Given the description of an element on the screen output the (x, y) to click on. 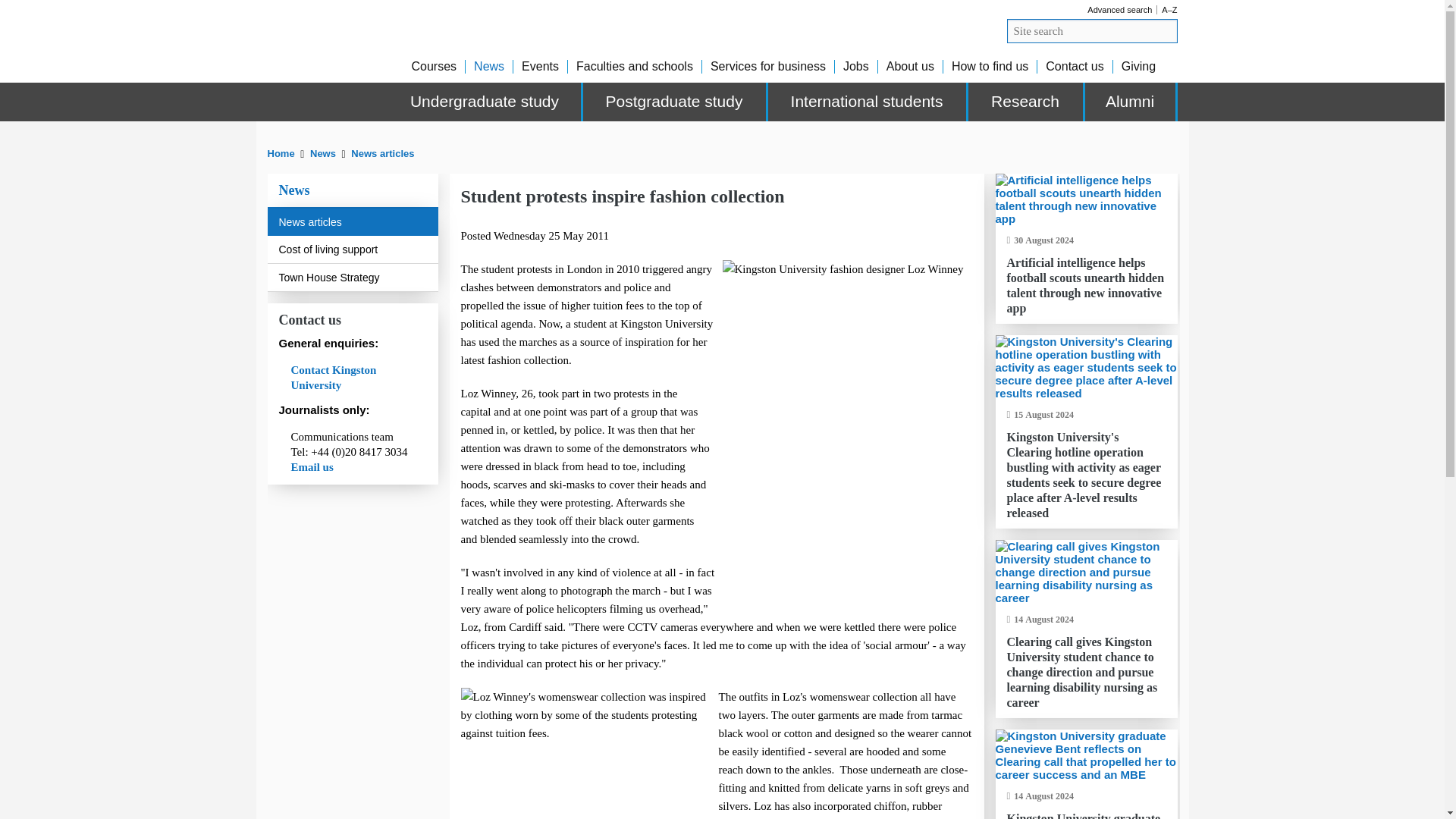
International students (867, 101)
Twitter (1151, 145)
News (323, 153)
Faculties and schools (634, 65)
Undergraduate study (485, 101)
Search (1166, 30)
Services for business (767, 65)
Events at Kingston University London (540, 65)
Contact us (1074, 65)
